Given the description of an element on the screen output the (x, y) to click on. 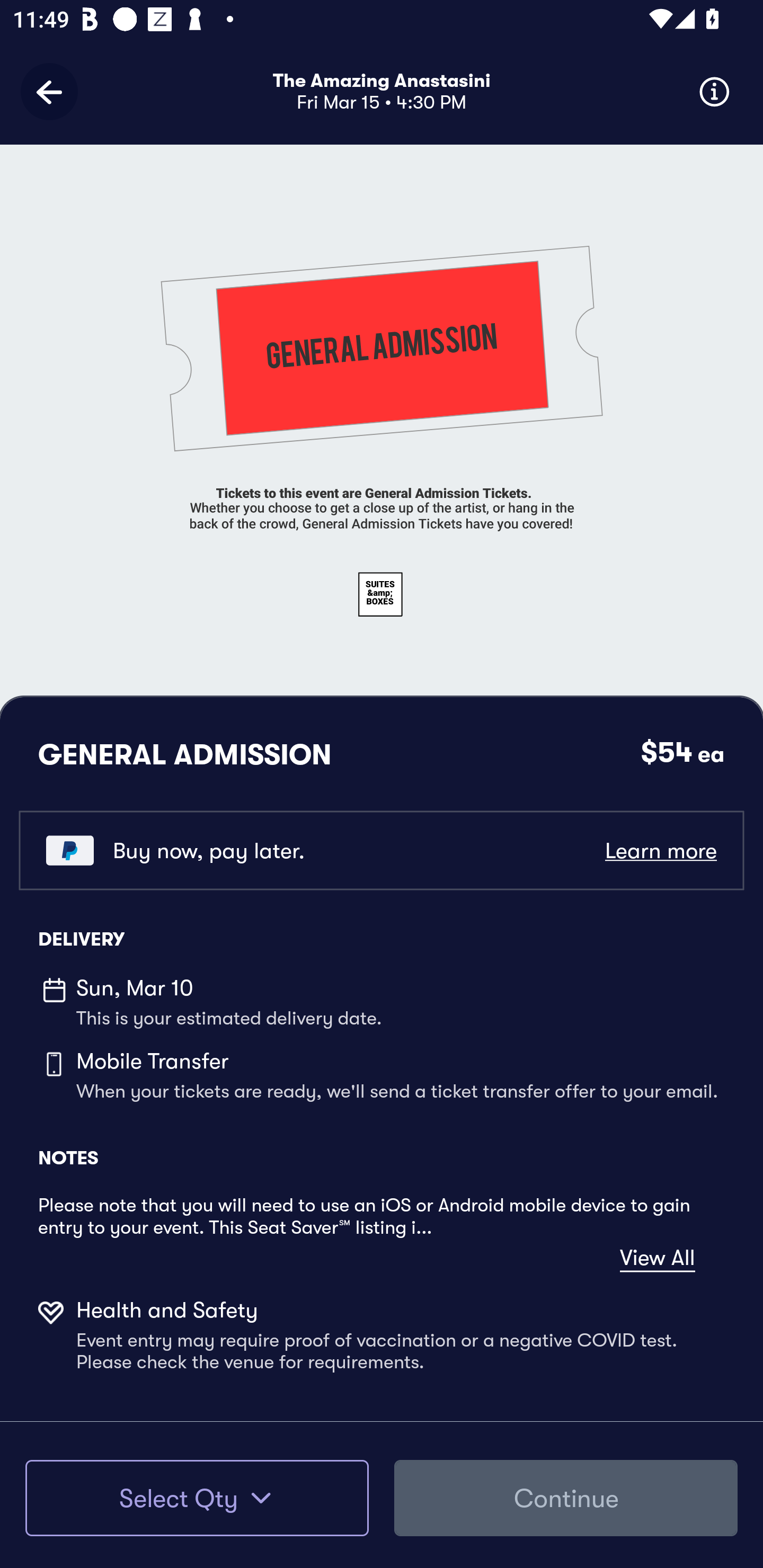
Learn more (660, 850)
View All (657, 1257)
Select Qty (196, 1497)
Continue (565, 1497)
